Given the description of an element on the screen output the (x, y) to click on. 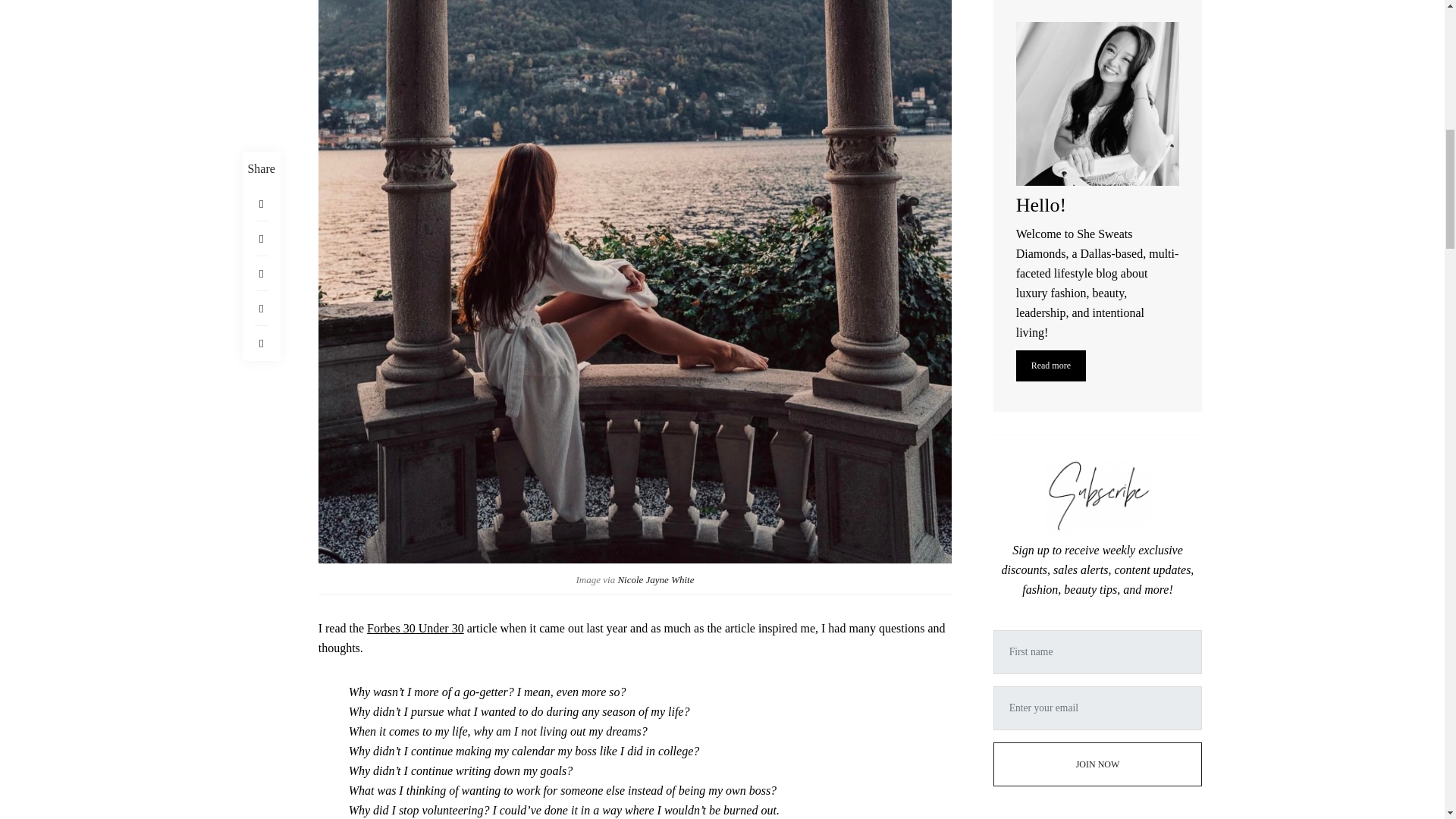
Join Now (1097, 153)
